Given the description of an element on the screen output the (x, y) to click on. 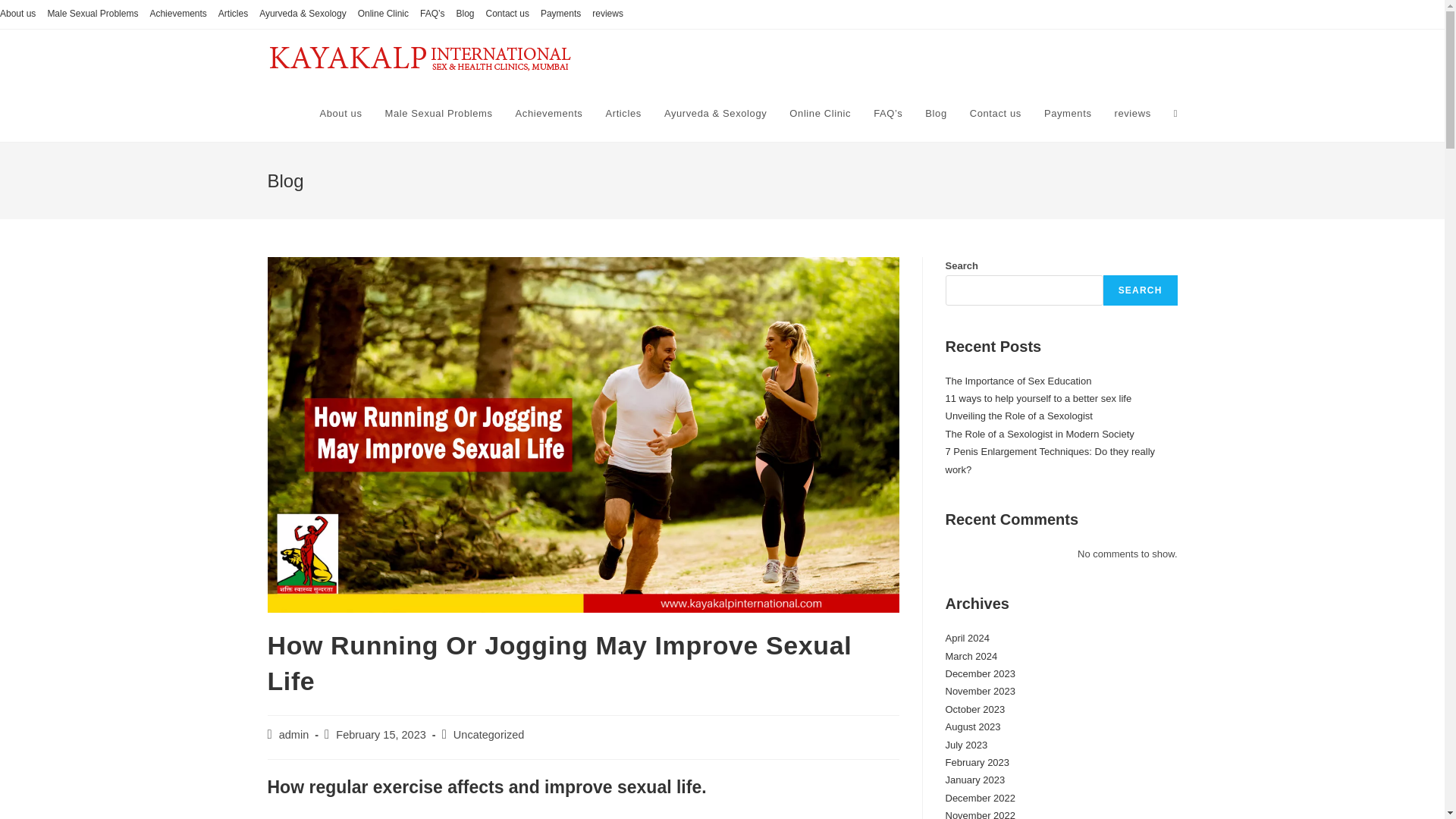
reviews (607, 13)
Posts by admin (293, 734)
Blog (465, 13)
Online Clinic (383, 13)
About us (339, 113)
Contact us (507, 13)
Online Clinic (819, 113)
Male Sexual Problems (438, 113)
Achievements (548, 113)
Payments (560, 13)
Articles (623, 113)
reviews (1131, 113)
Payments (1067, 113)
Articles (232, 13)
Contact us (995, 113)
